Given the description of an element on the screen output the (x, y) to click on. 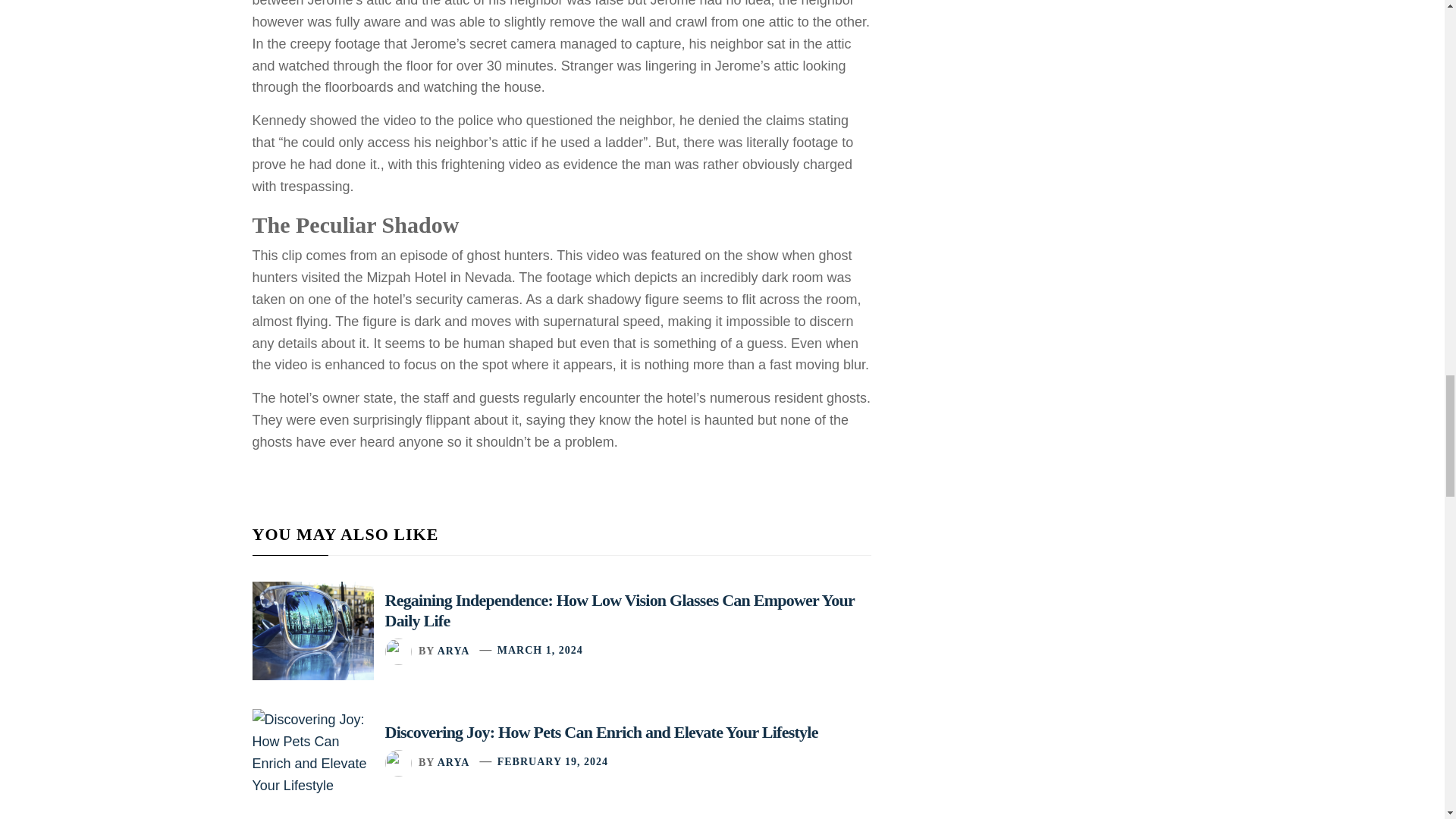
ARYA (454, 761)
ARYA (454, 650)
FEBRUARY 19, 2024 (552, 761)
MARCH 1, 2024 (540, 650)
